Given the description of an element on the screen output the (x, y) to click on. 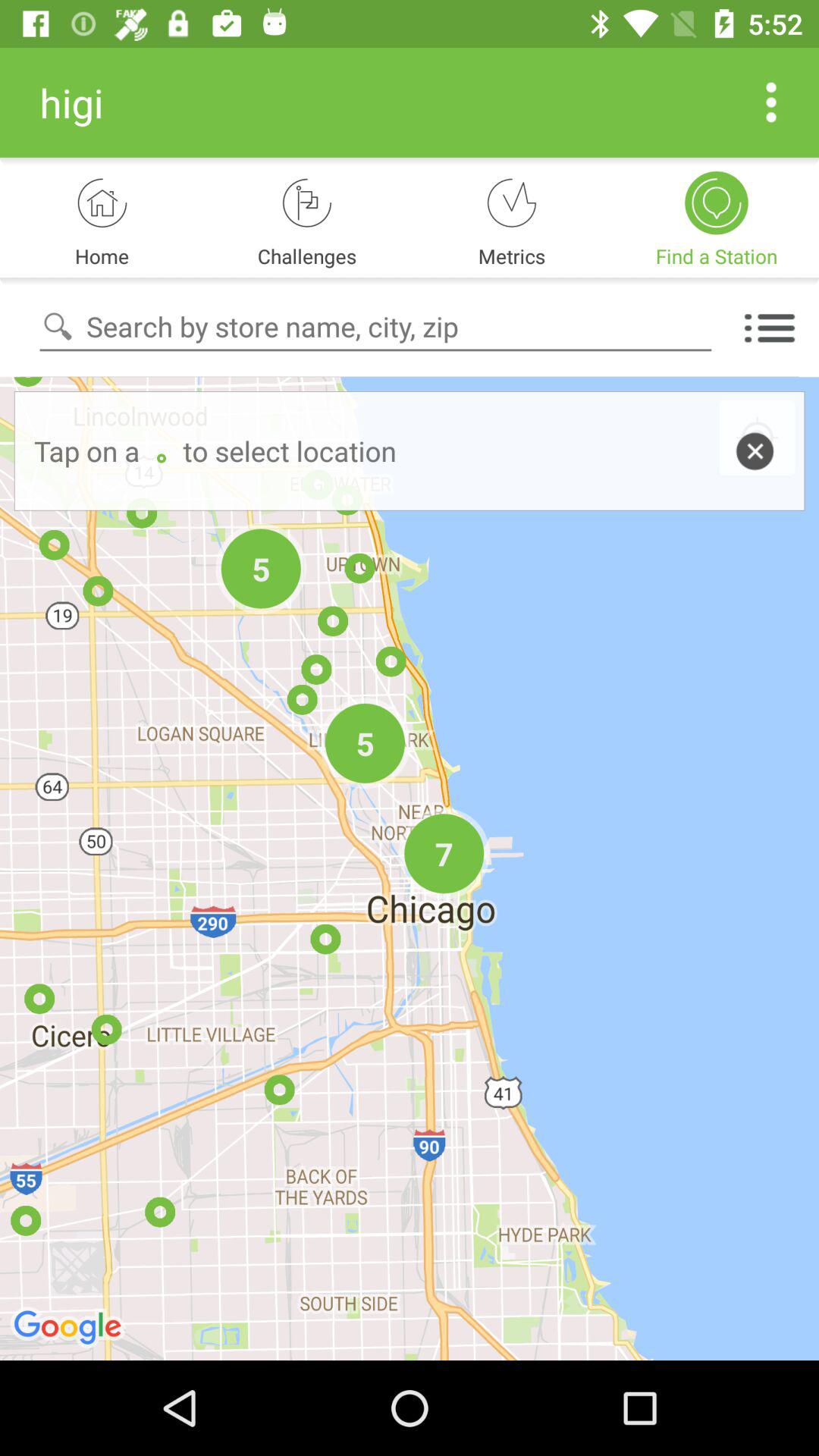
the dot menu at from right  top corner (771, 102)
click on the fourth option which is right side of metrics (716, 203)
click on the google icon at the bottom left corner (69, 1328)
click on the x mark (757, 438)
close button beside location (754, 450)
click on the search bar (375, 327)
